Given the description of an element on the screen output the (x, y) to click on. 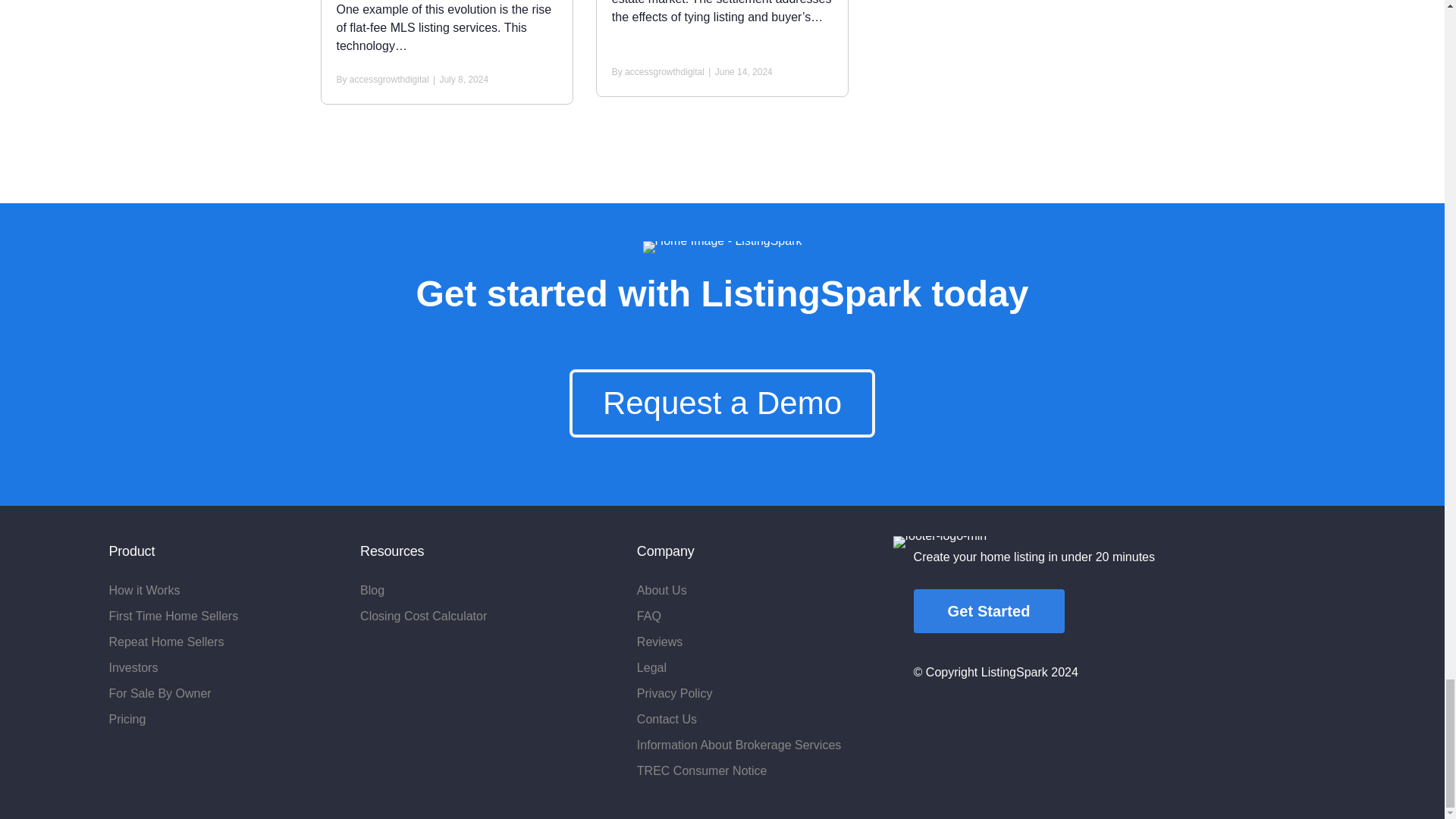
ListingSpark (722, 246)
footer-logo-min (940, 541)
